Given the description of an element on the screen output the (x, y) to click on. 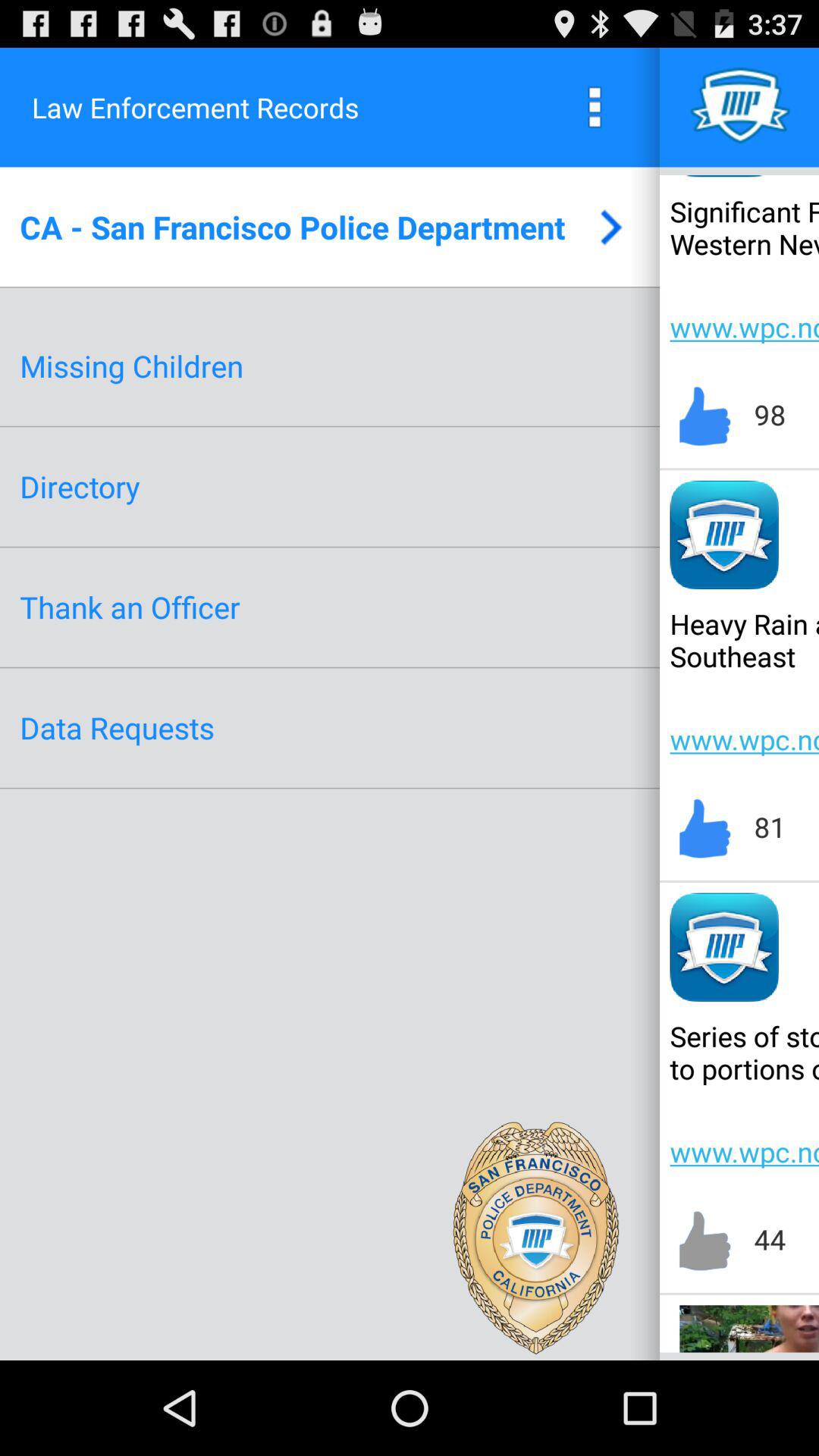
open app above directory item (131, 365)
